Given the description of an element on the screen output the (x, y) to click on. 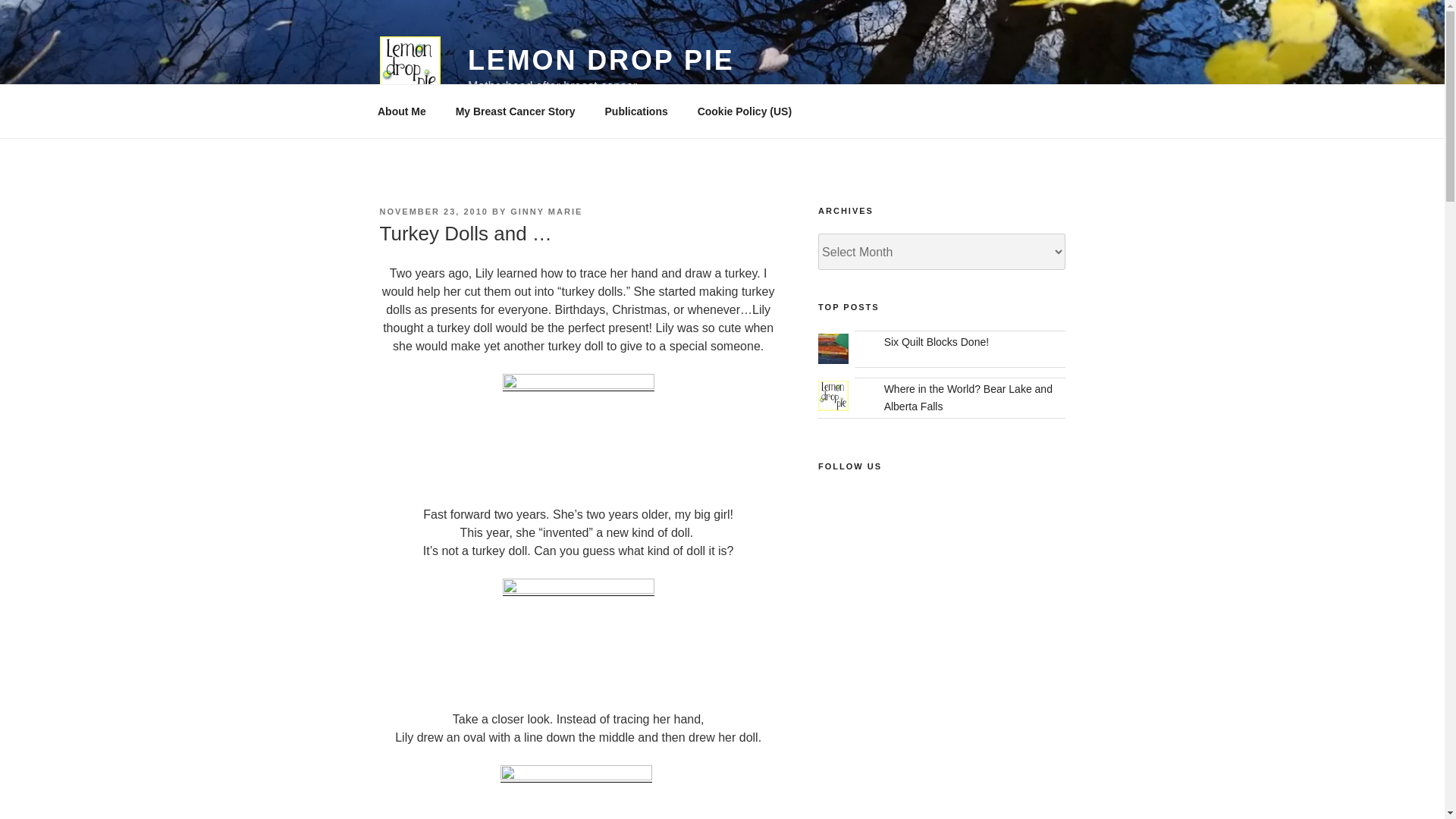
Publications (636, 110)
GINNY MARIE (546, 211)
Six Quilt Blocks Done! (936, 341)
Where in the World? Bear Lake and Alberta Falls (967, 397)
About Me (401, 110)
NOVEMBER 23, 2010 (432, 211)
LEMON DROP PIE (601, 60)
My Breast Cancer Story (515, 110)
